Given the description of an element on the screen output the (x, y) to click on. 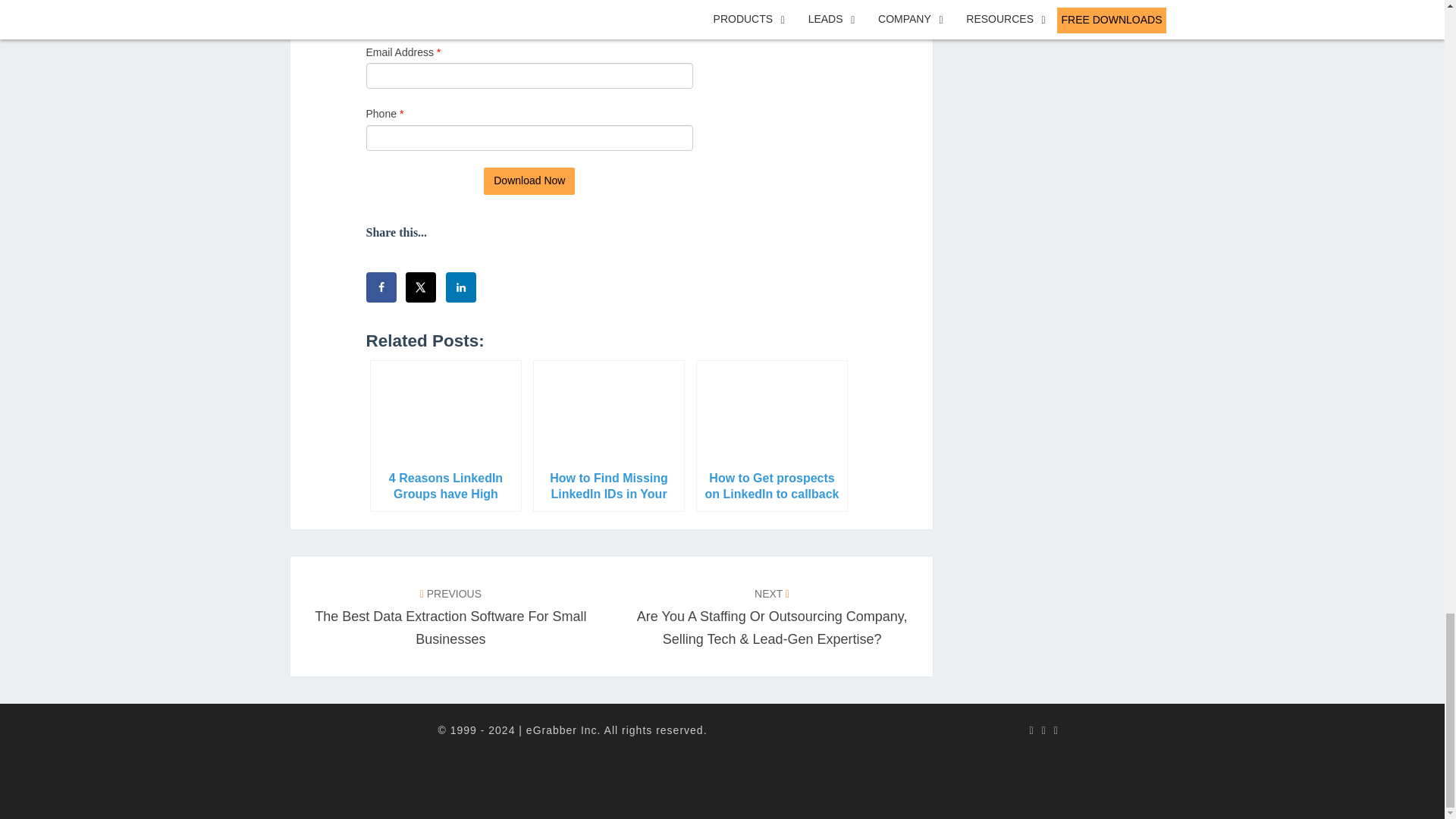
Share on X (420, 286)
How to Get prospects on LinkedIn to callback 4 (771, 413)
4 Reasons LinkedIn Groups have High Conversion Prospects 2 (443, 413)
How to Find Missing LinkedIn IDs in Your Prospects List (608, 435)
4 Reasons LinkedIn Groups have High Conversion Prospects (445, 435)
How to Get prospects on LinkedIn to callback (771, 435)
How to Find Missing LinkedIn IDs in Your Prospects List 3 (608, 413)
How to Find Missing LinkedIn IDs in Your Prospects List (608, 435)
How to Get prospects on LinkedIn to callback (771, 435)
4 Reasons LinkedIn Groups have High Conversion Prospects (445, 435)
Share on LinkedIn (460, 286)
Download Now (529, 180)
Share on Facebook (380, 286)
